Given the description of an element on the screen output the (x, y) to click on. 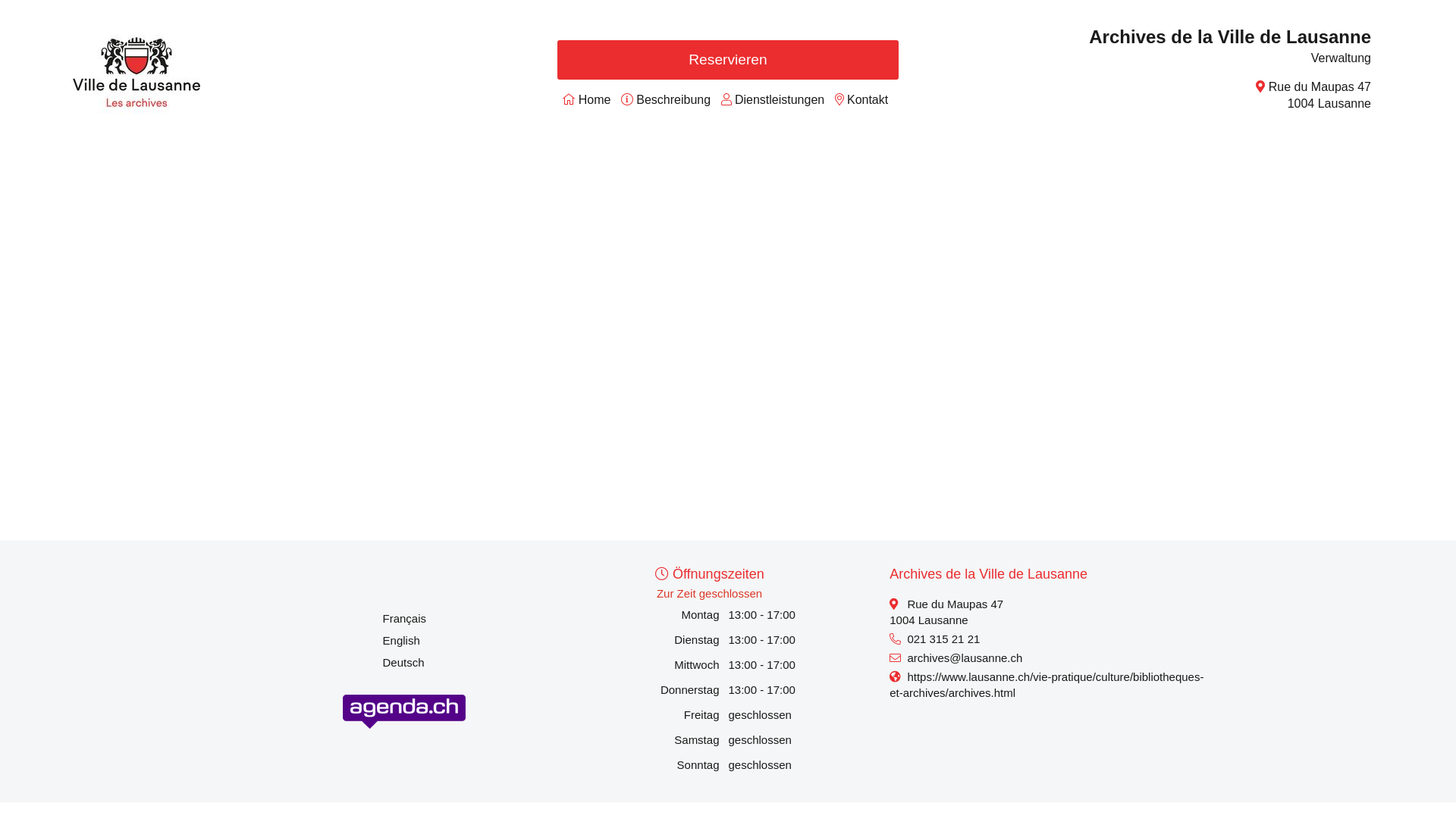
Rue du Maupas 47
1004 Lausanne Element type: text (1319, 94)
Home Element type: text (594, 99)
Reservieren Element type: text (727, 59)
Deutsch Element type: text (403, 661)
021 315 21 21 Element type: text (942, 638)
Beschreibung Element type: text (673, 99)
archives@lausanne.ch Element type: text (964, 657)
Kontakt Element type: text (867, 99)
English Element type: text (401, 639)
Dienstleistungen Element type: text (779, 99)
